Given the description of an element on the screen output the (x, y) to click on. 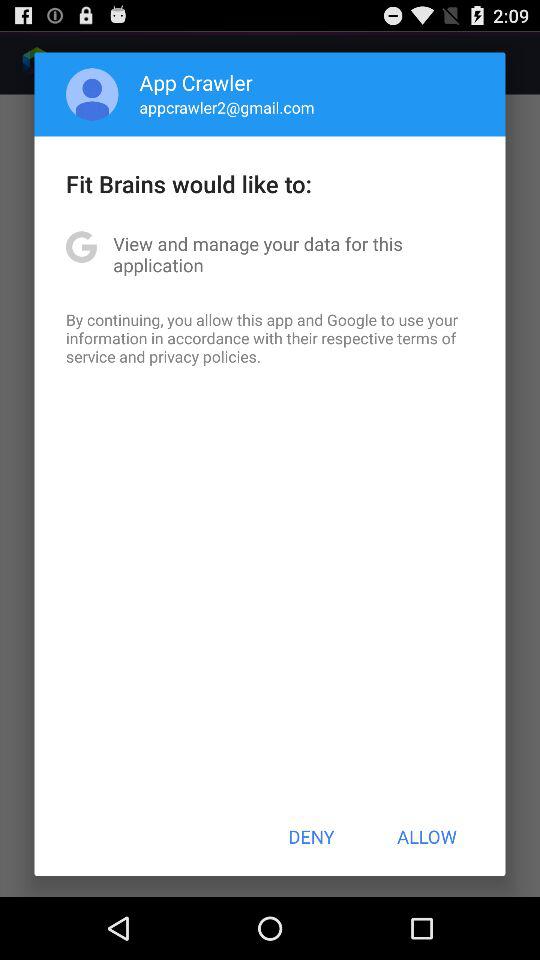
click icon to the left of app crawler item (92, 94)
